Given the description of an element on the screen output the (x, y) to click on. 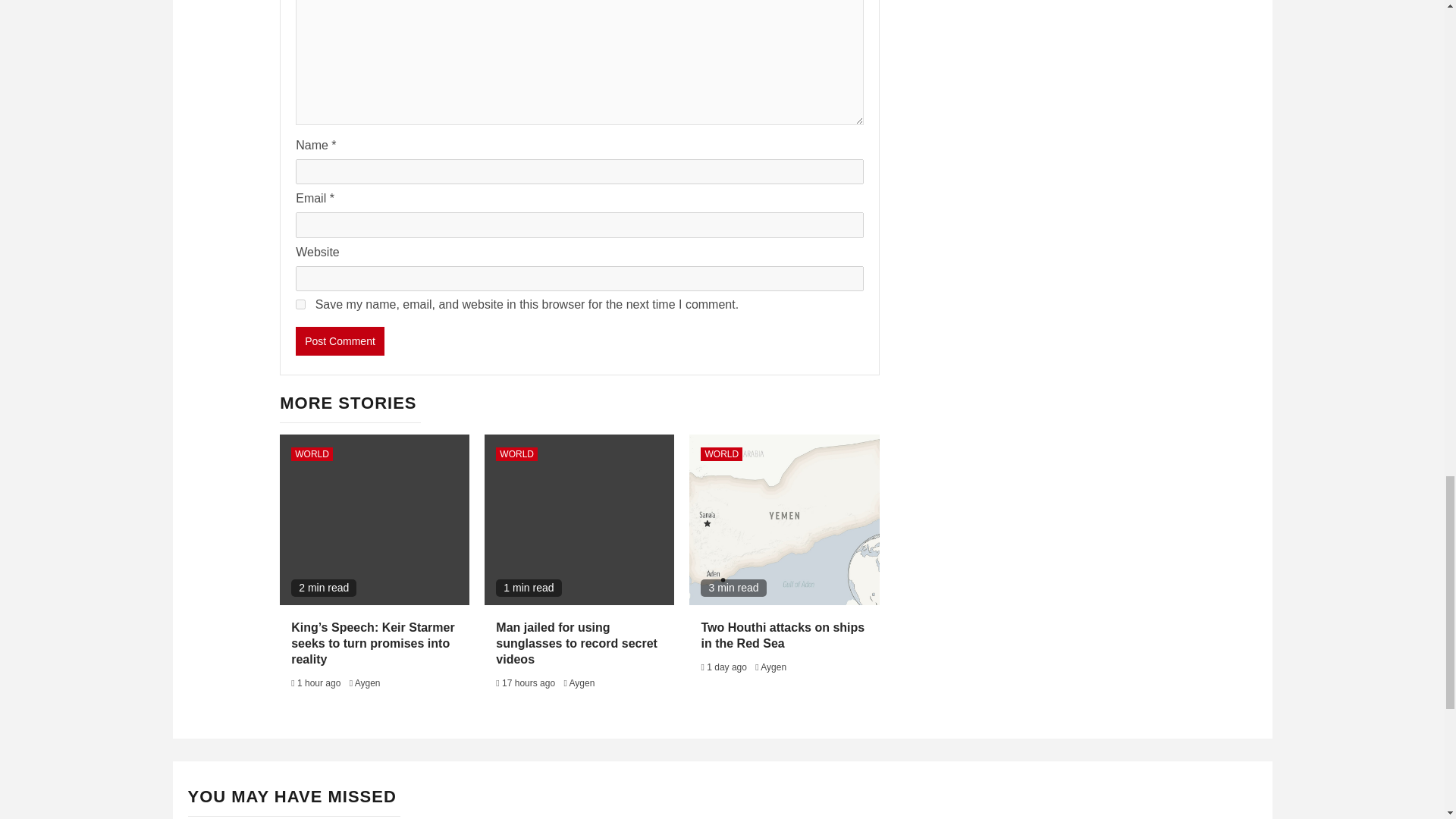
WORLD (721, 454)
WORLD (312, 454)
Post Comment (339, 340)
Aygen (773, 666)
Two Houthi attacks on ships in the Red Sea (782, 635)
yes (300, 304)
Post Comment (339, 340)
WORLD (516, 454)
Man jailed for using sunglasses to record secret videos (577, 642)
Aygen (582, 683)
Aygen (367, 683)
